Given the description of an element on the screen output the (x, y) to click on. 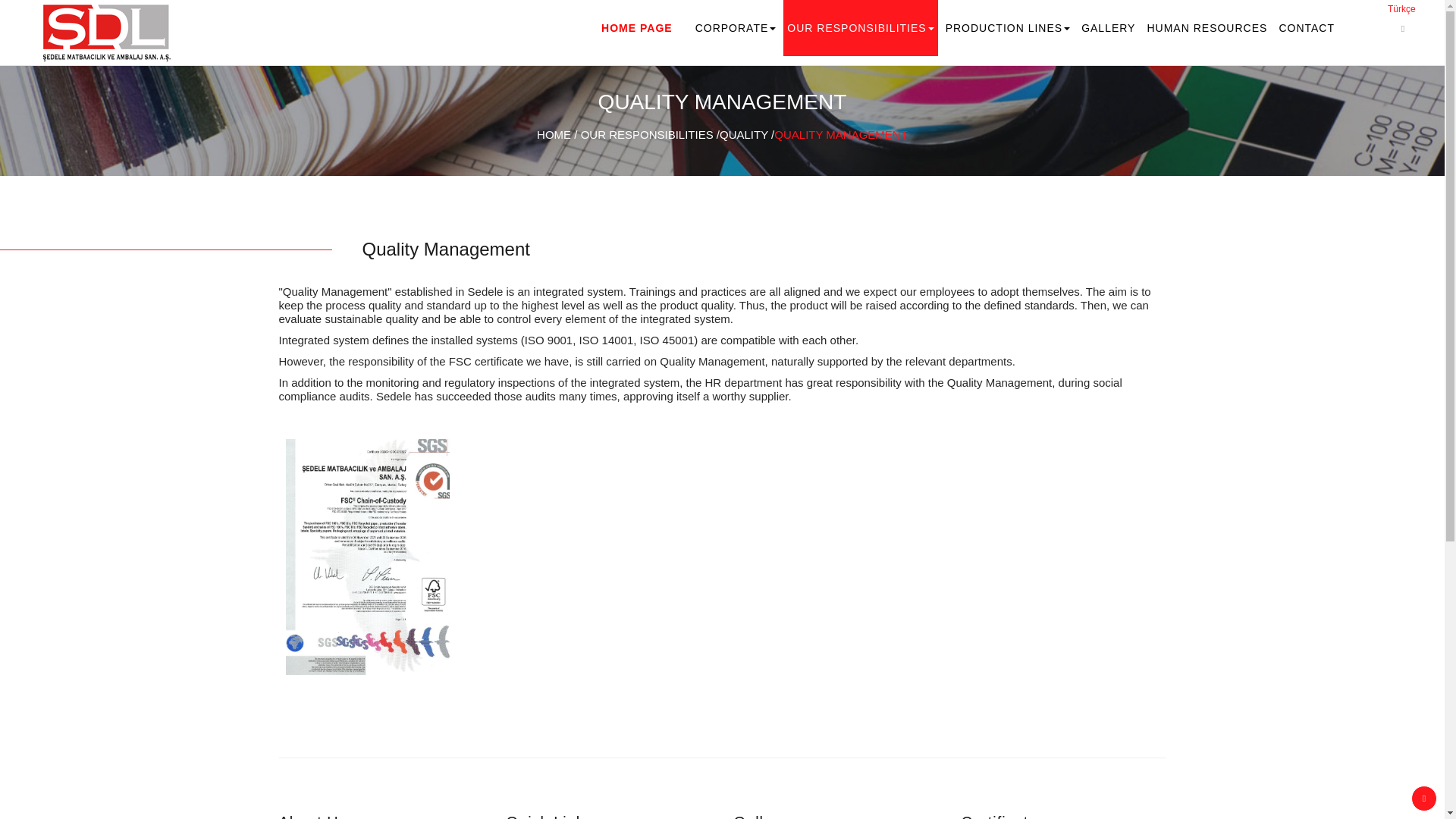
OUR RESPONSIBILITIES (860, 28)
CORPORATE (735, 28)
HOME PAGE (636, 28)
GALLERY (1107, 28)
PRODUCTION LINES (1008, 28)
HUMAN RESOURCES (1206, 28)
